Given the description of an element on the screen output the (x, y) to click on. 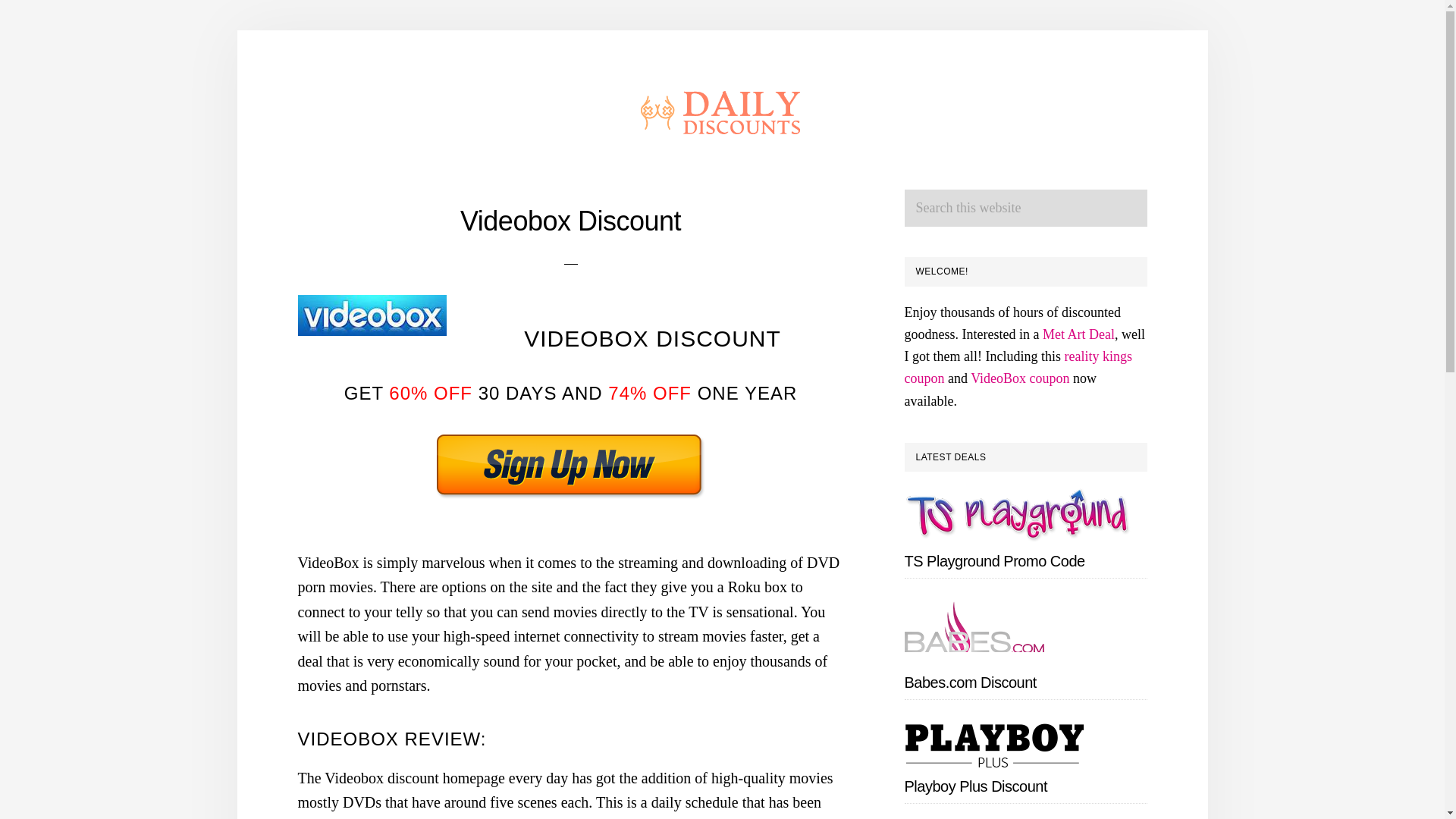
VideoBox coupon (1019, 378)
Babes.com Discount (969, 682)
Playboy Plus Discount (975, 786)
reality kings coupon (1017, 366)
TS Playground Promo Code (994, 560)
Met Art Deal (1078, 334)
